Given the description of an element on the screen output the (x, y) to click on. 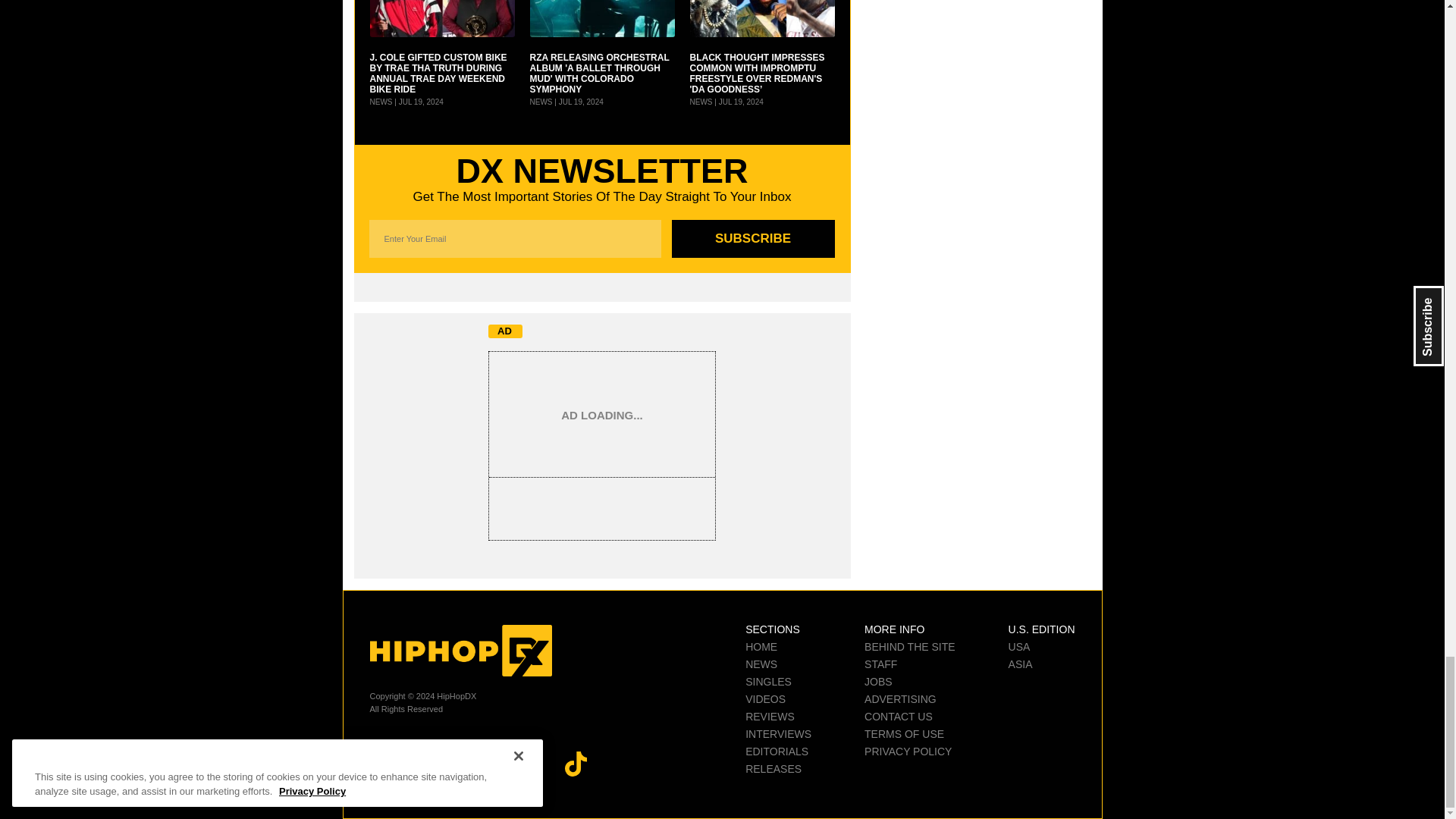
HipHopDX (460, 650)
